Given the description of an element on the screen output the (x, y) to click on. 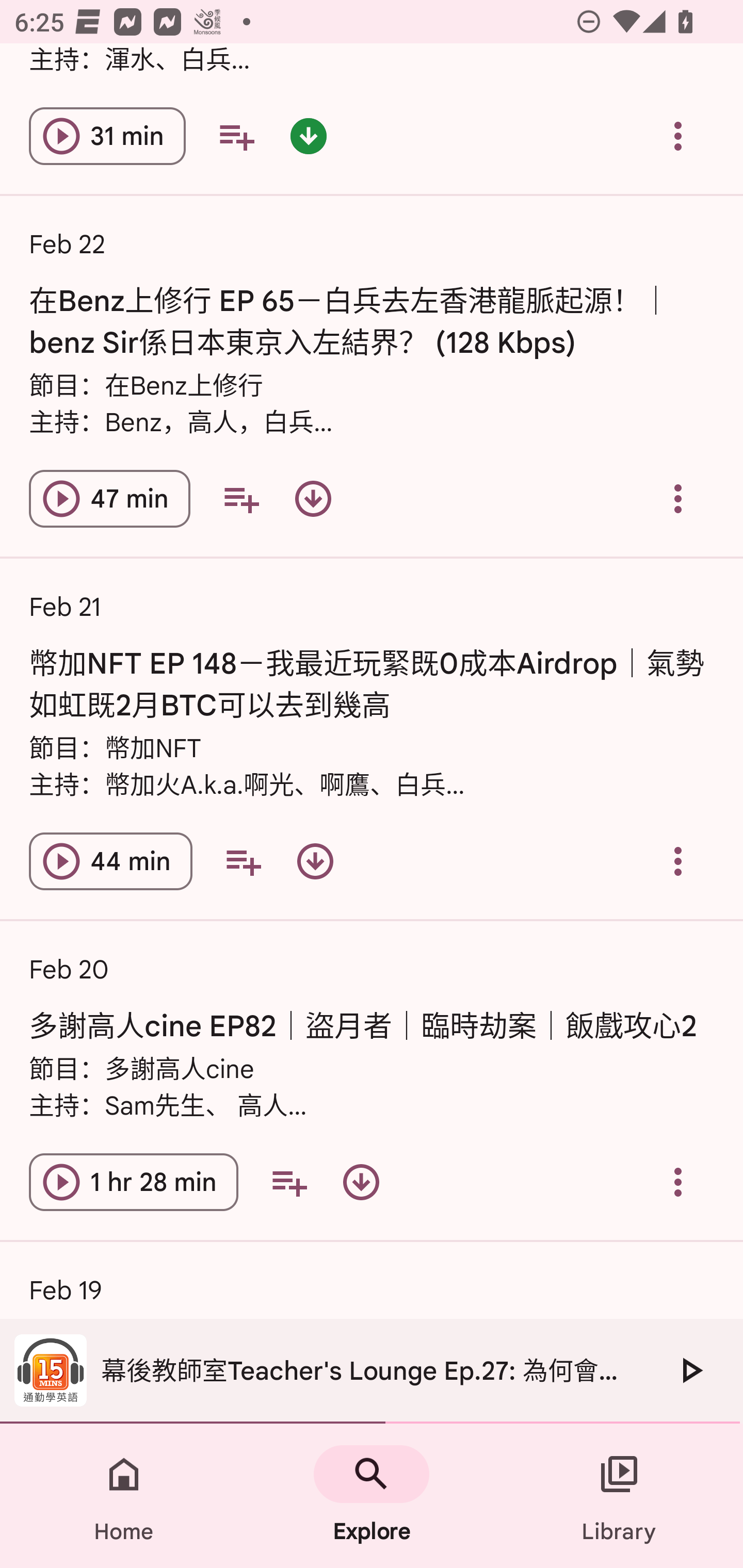
Add to your queue (235, 135)
Episode downloaded - double tap for options 0.0 (308, 135)
Overflow menu (677, 135)
Add to your queue (241, 498)
Download episode (313, 498)
Overflow menu (677, 498)
Add to your queue (242, 861)
Download episode (315, 861)
Overflow menu (677, 861)
Add to your queue (288, 1182)
Download episode (361, 1182)
Overflow menu (677, 1182)
Play (690, 1370)
Home (123, 1495)
Library (619, 1495)
